Given the description of an element on the screen output the (x, y) to click on. 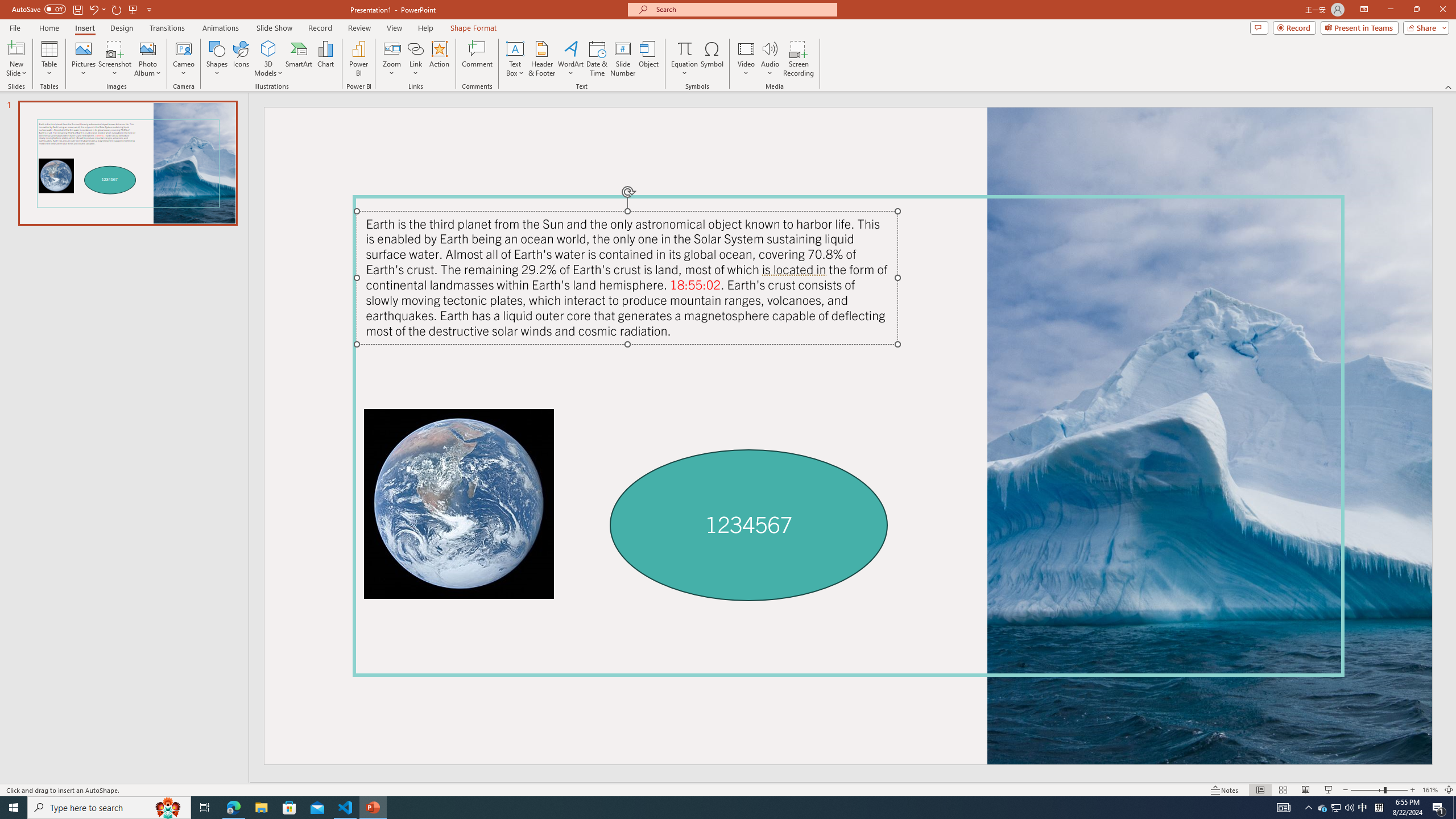
Screen Recording... (798, 58)
New Photo Album... (147, 48)
WordArt (570, 58)
Photo Album... (147, 58)
